Given the description of an element on the screen output the (x, y) to click on. 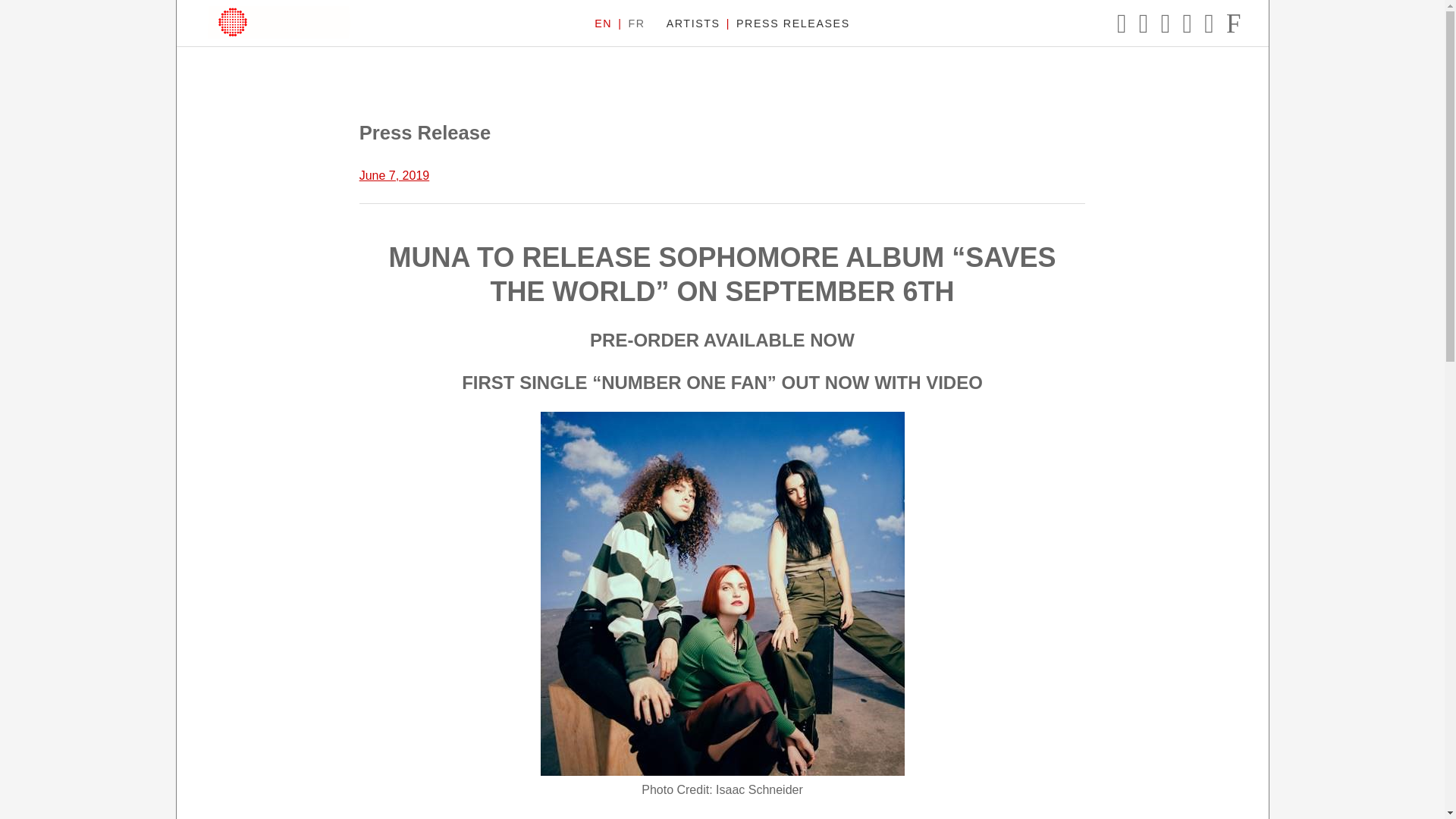
EN (602, 23)
Sony Music Canada (278, 21)
FR (636, 23)
June 7, 2019 (394, 174)
ARTISTS (693, 23)
English (602, 23)
PRESS RELEASES (793, 23)
